Given the description of an element on the screen output the (x, y) to click on. 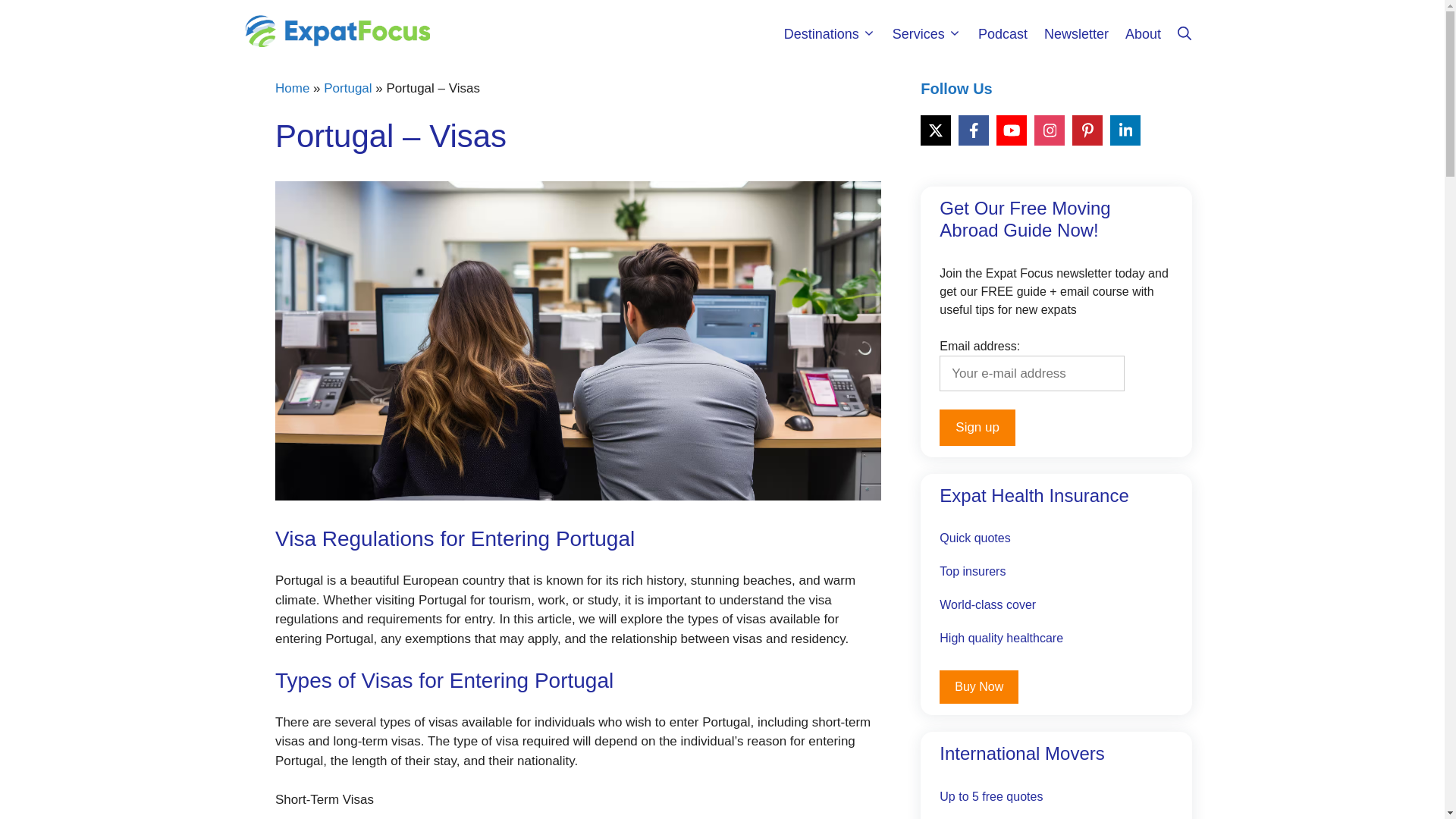
Destinations (829, 33)
Sign up (976, 427)
